Given the description of an element on the screen output the (x, y) to click on. 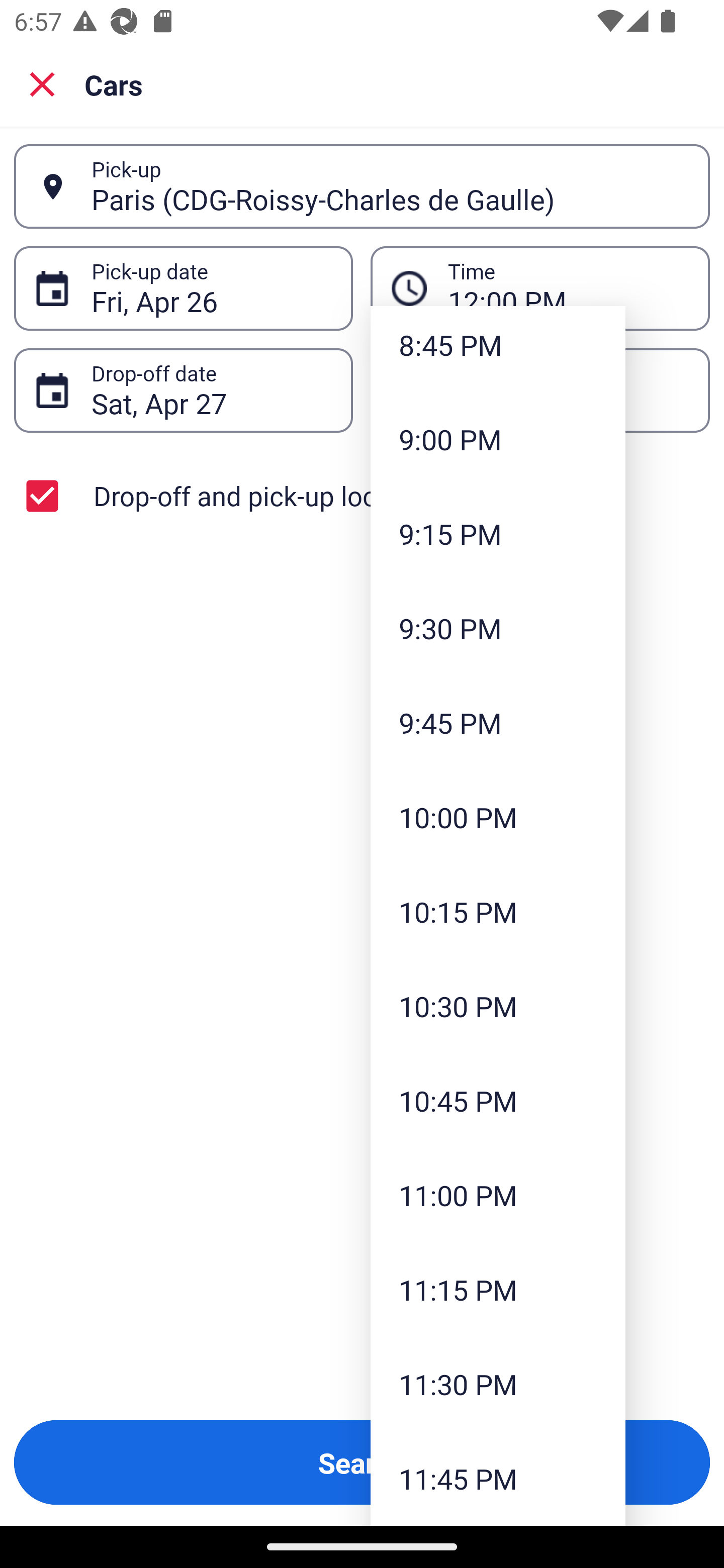
8:45 PM (497, 348)
9:00 PM (497, 439)
9:15 PM (497, 533)
9:30 PM (497, 628)
9:45 PM (497, 722)
10:00 PM (497, 816)
10:15 PM (497, 911)
10:30 PM (497, 1006)
10:45 PM (497, 1100)
11:00 PM (497, 1194)
11:15 PM (497, 1289)
11:30 PM (497, 1384)
11:45 PM (497, 1478)
